Given the description of an element on the screen output the (x, y) to click on. 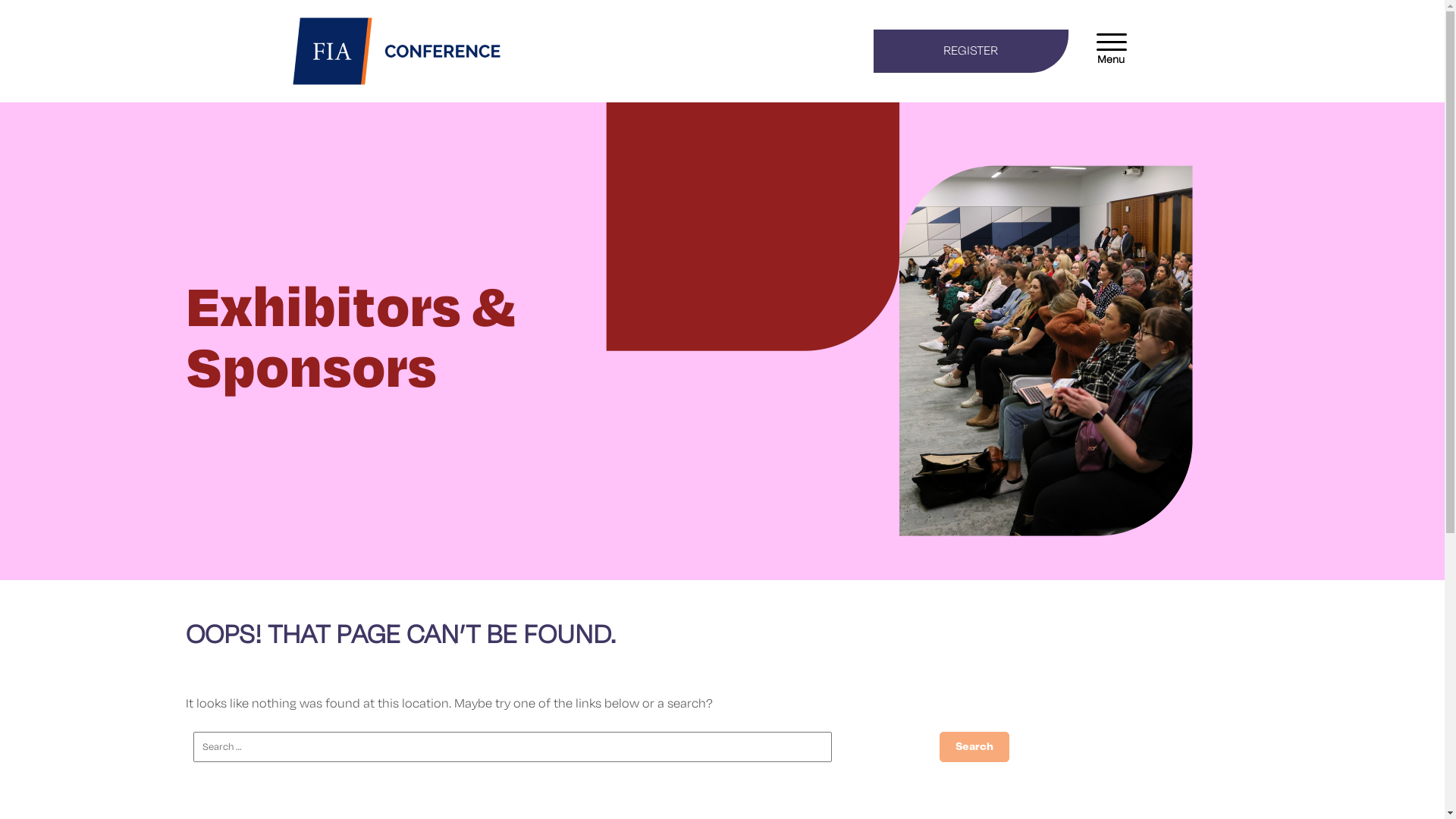
REGISTER Element type: text (970, 50)
Menu Element type: text (1110, 40)
Search Element type: text (974, 746)
